Given the description of an element on the screen output the (x, y) to click on. 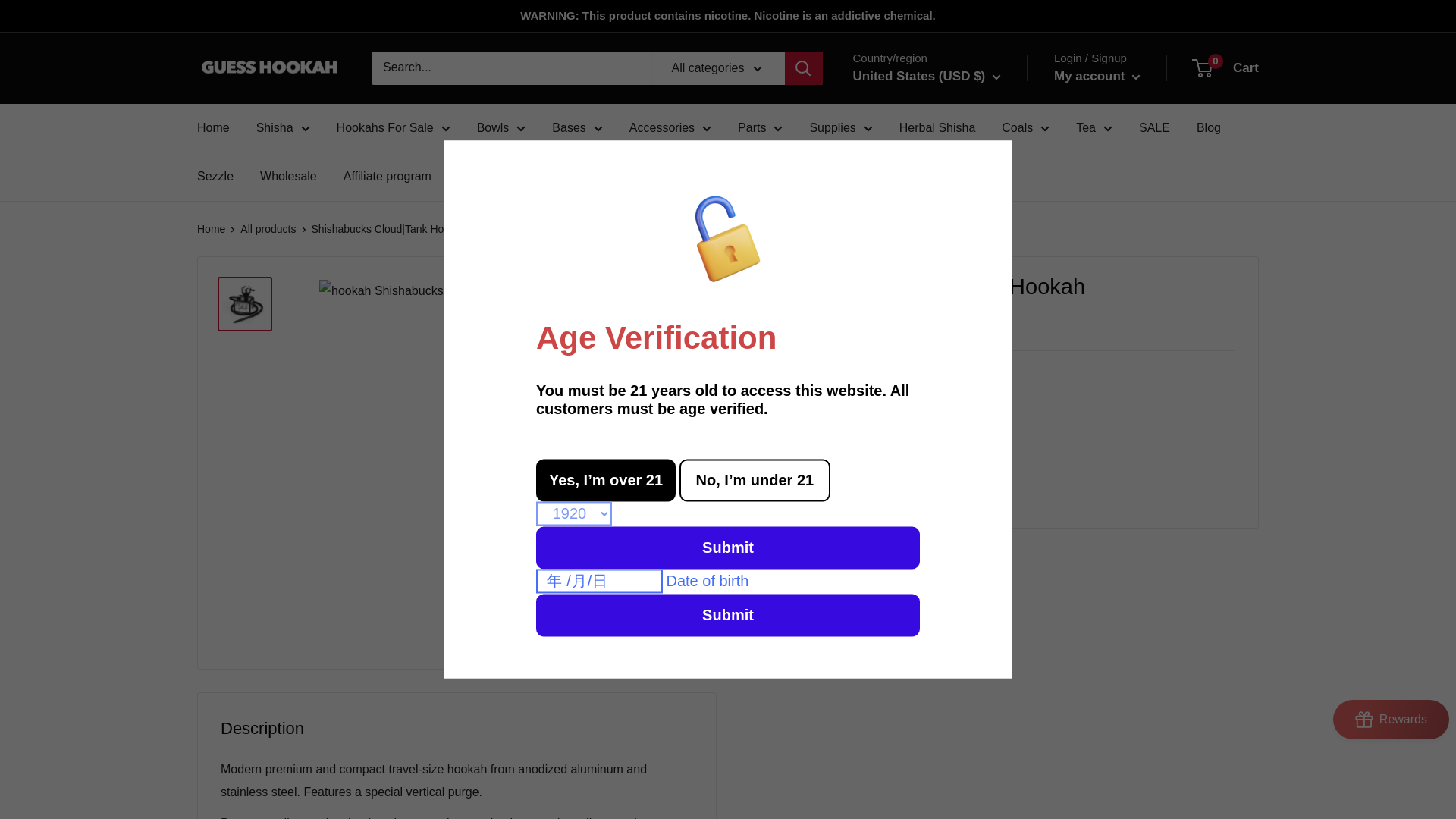
Increase quantity by 1 (921, 430)
Decrease quantity by 1 (841, 430)
1 (881, 430)
